Given the description of an element on the screen output the (x, y) to click on. 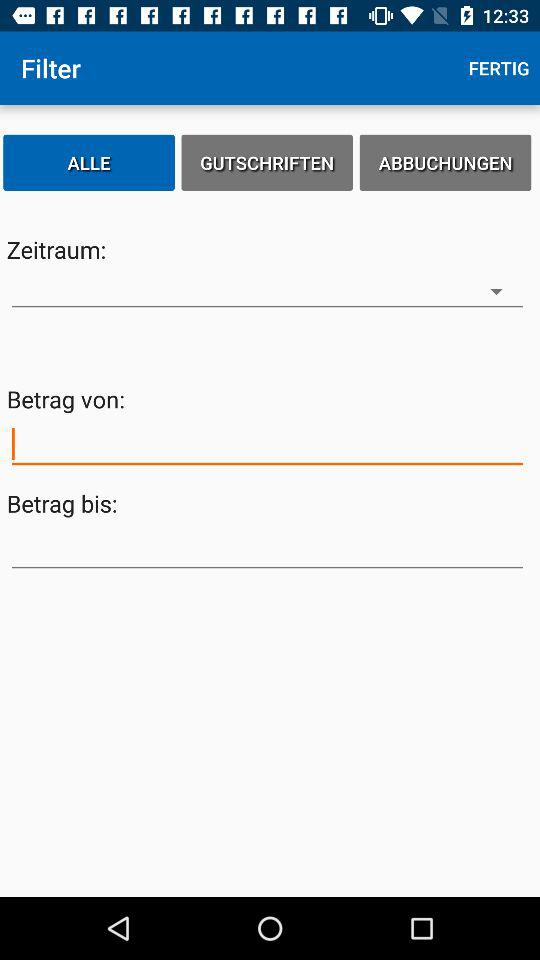
launch icon to the right of the alle icon (267, 162)
